Given the description of an element on the screen output the (x, y) to click on. 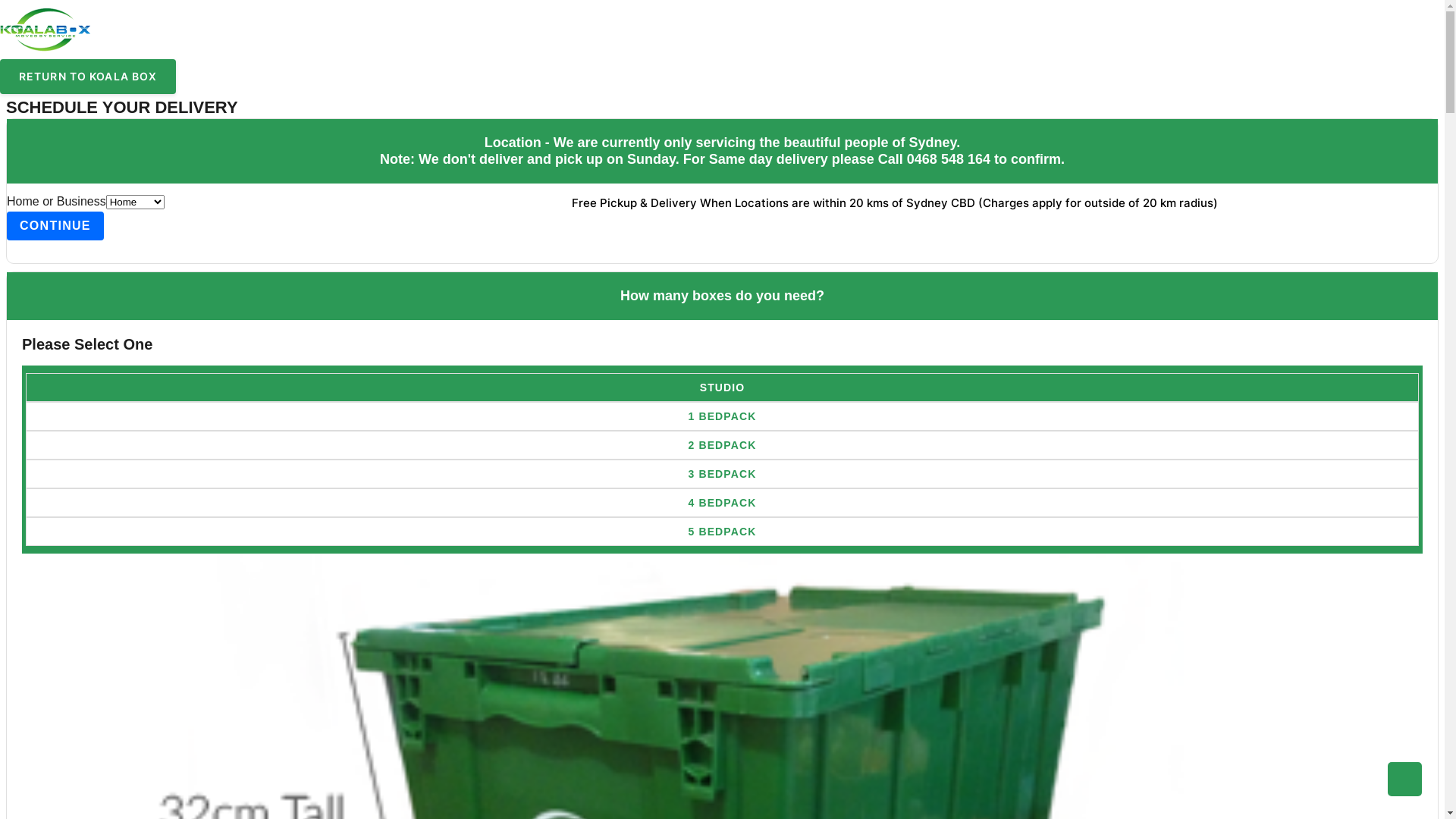
RETURN TO KOALA BOX Element type: text (87, 76)
2 BEDPACK Element type: text (721, 444)
STUDIO Element type: text (721, 387)
4 BEDPACK Element type: text (721, 502)
3 BEDPACK Element type: text (721, 473)
5 BEDPACK Element type: text (721, 531)
1 BEDPACK Element type: text (721, 415)
CONTINUE Element type: text (54, 225)
